Given the description of an element on the screen output the (x, y) to click on. 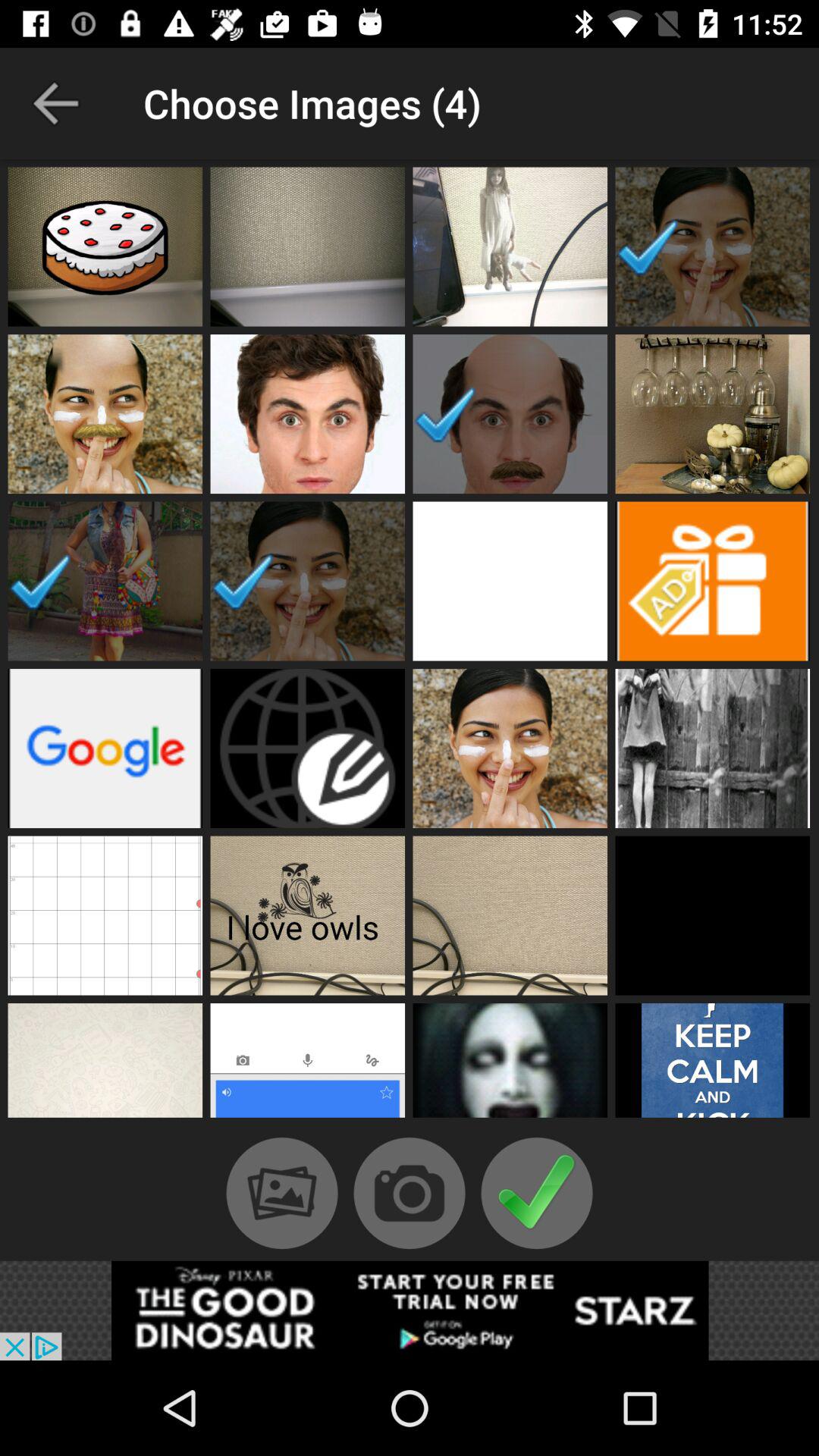
click on the image which is in 2nd row 2nd column (307, 413)
select the image having the text i love owls (307, 915)
select the 5th image which is below google on the page (105, 915)
select the third image which is on the third vertical of the page (510, 581)
go to third option in first row (510, 246)
select the 4th image in the 4th row (712, 748)
select the 1st image which is in the 2nd row (105, 413)
select the image in fourth row fourth column (712, 748)
